Given the description of an element on the screen output the (x, y) to click on. 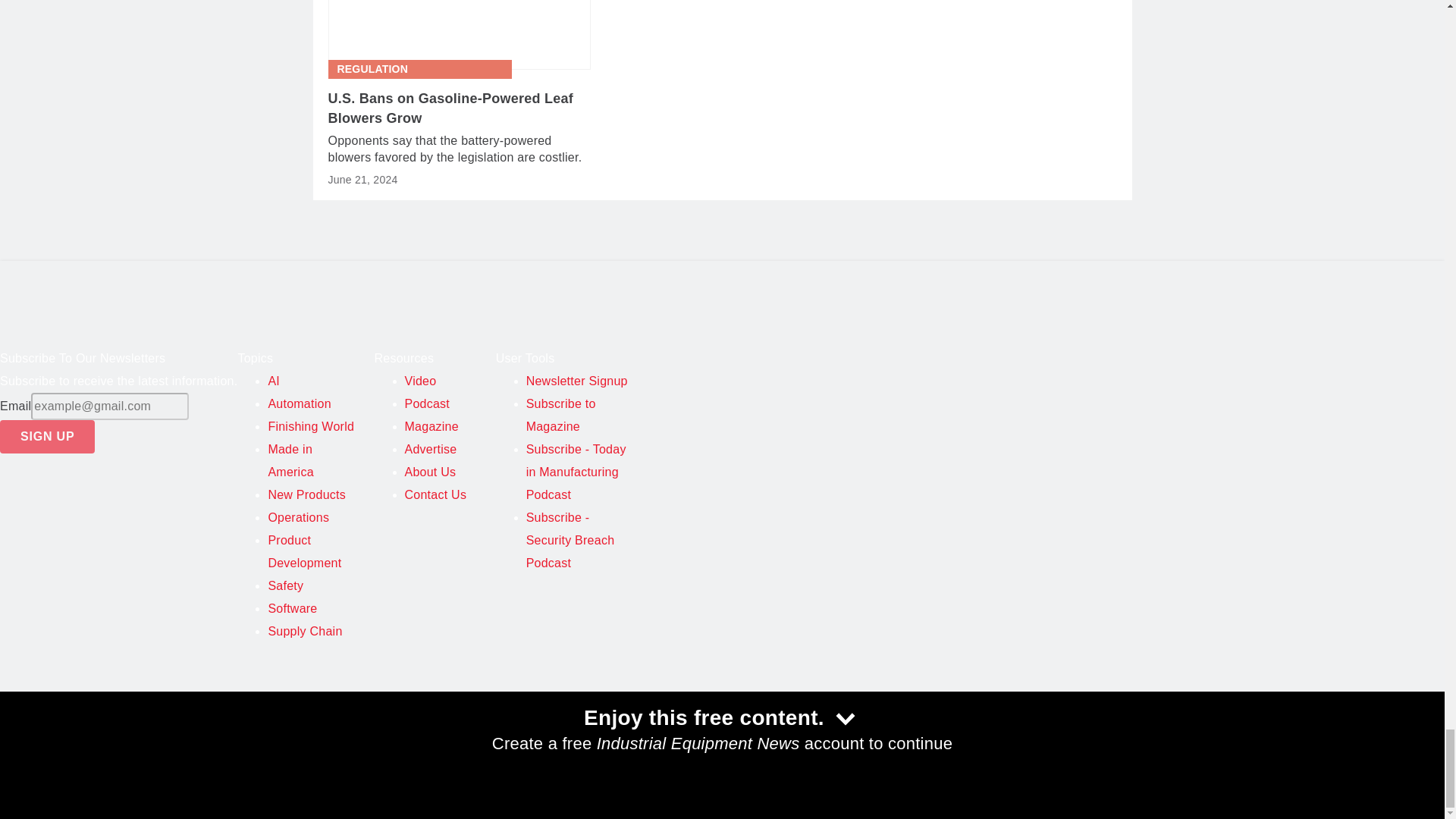
YouTube icon (98, 733)
Facebook icon (20, 733)
LinkedIn icon (175, 733)
Twitter X icon (60, 733)
Instagram icon (137, 733)
